Given the description of an element on the screen output the (x, y) to click on. 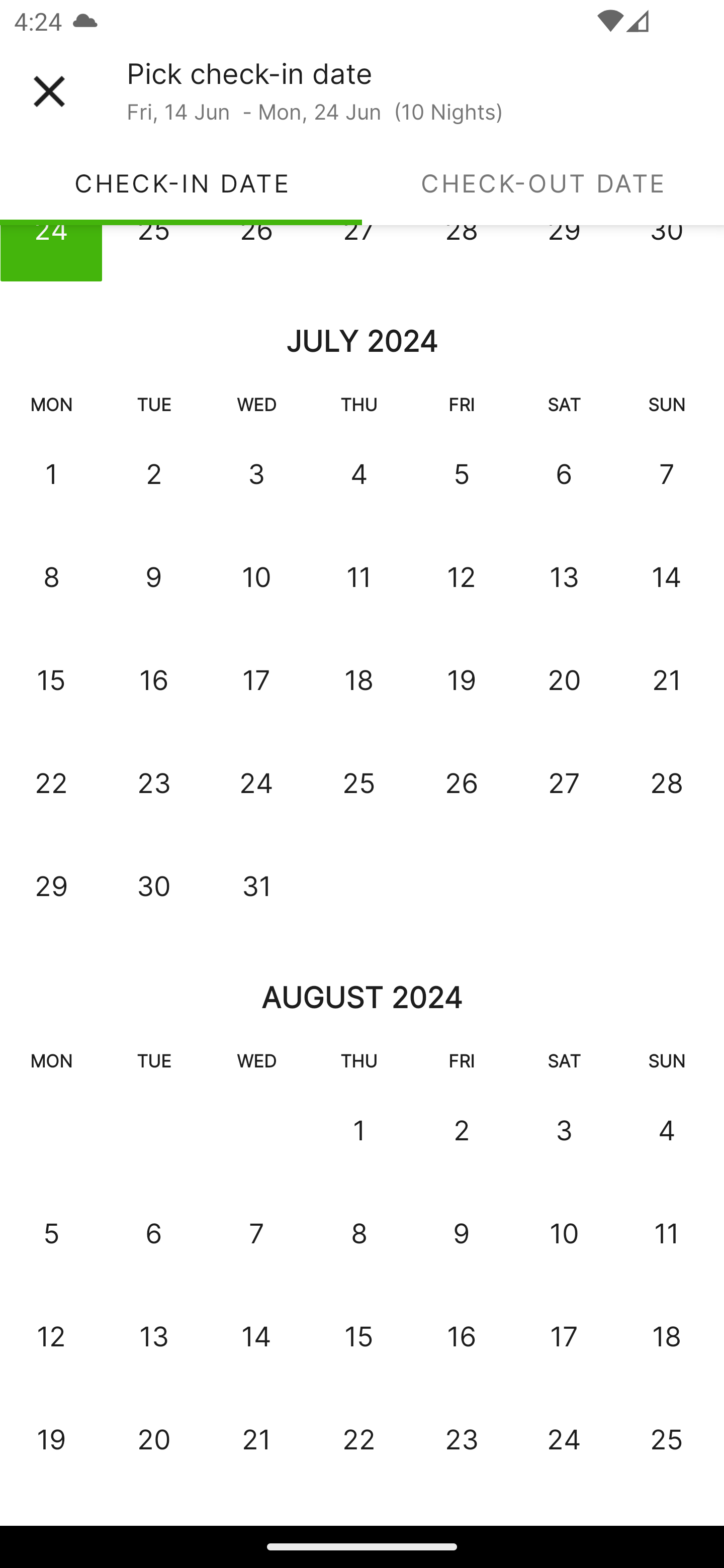
Check-out Date CHECK-OUT DATE (543, 183)
